Given the description of an element on the screen output the (x, y) to click on. 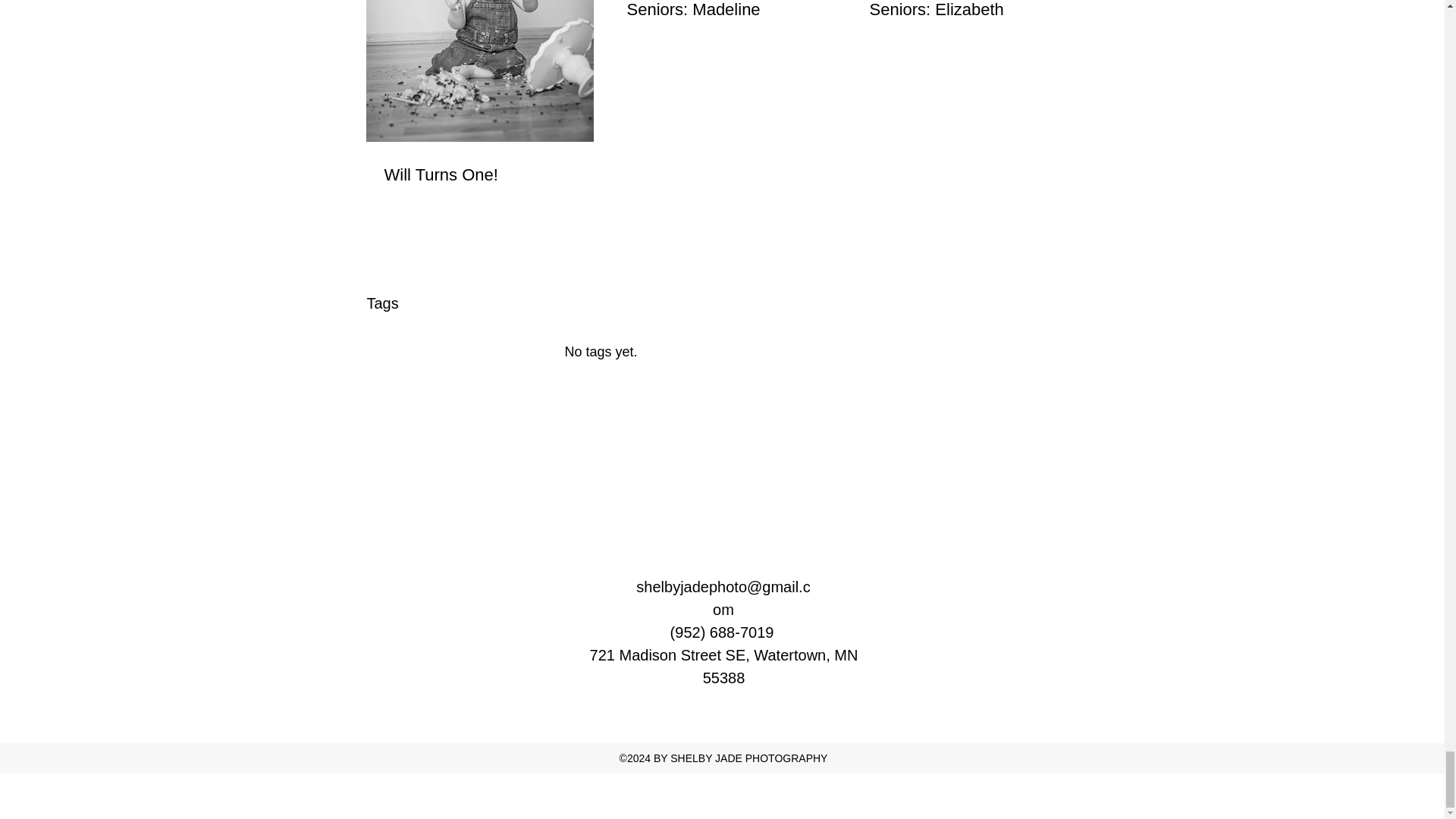
Celebrating 2017 Seniors: Madeline (721, 11)
Will Turns One! (479, 175)
Celebrating 2017 Seniors: Elizabeth (964, 11)
